Given the description of an element on the screen output the (x, y) to click on. 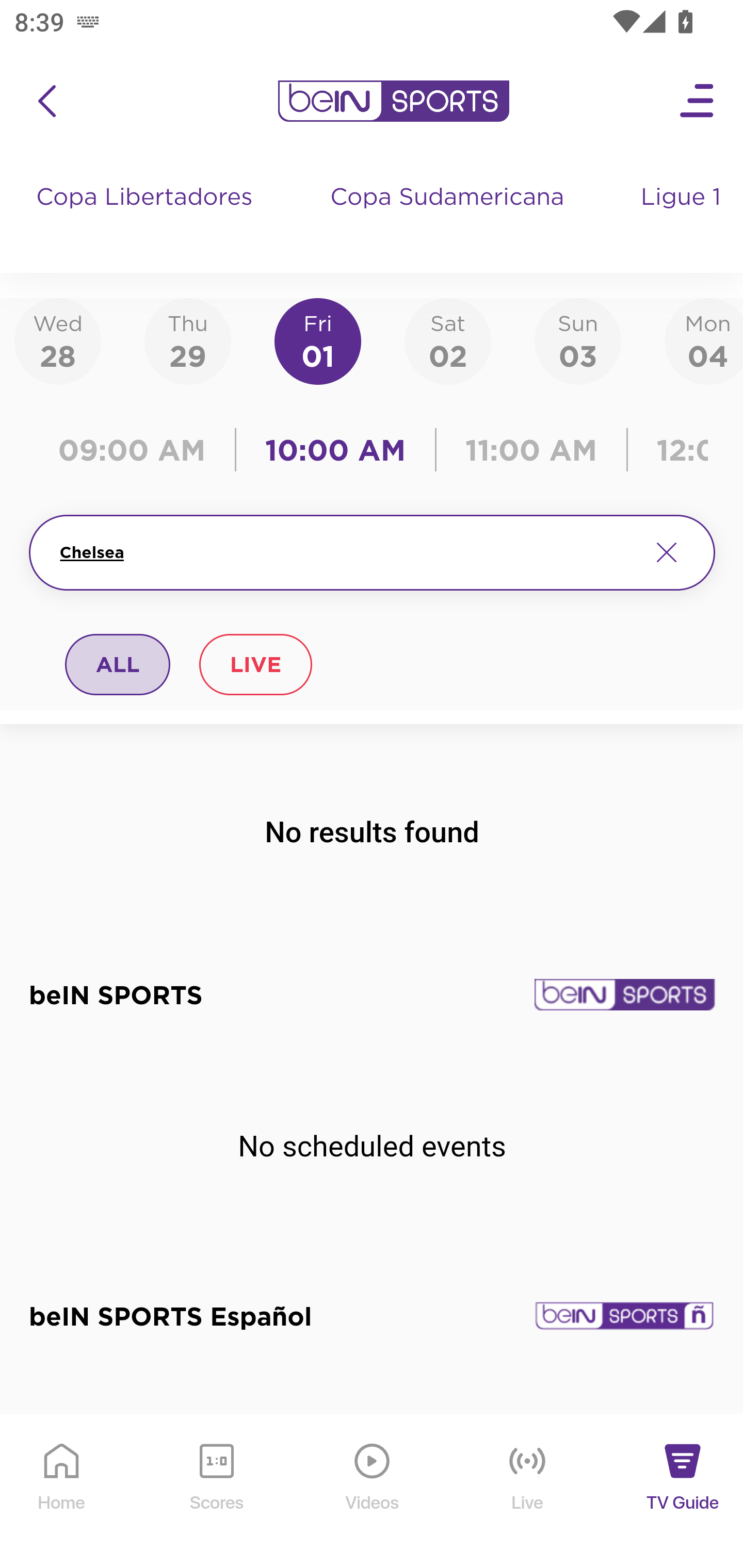
en-us?platform=mobile_android bein logo (392, 101)
icon back (46, 101)
Open Menu Icon (697, 101)
Copa Libertadores (146, 216)
Copa Sudamericana (448, 216)
Ligue 1 (682, 216)
Wed28 (58, 340)
Thu29 (187, 340)
Fri01 (318, 340)
Sat02 (447, 340)
Sun03 (578, 340)
Mon04 (703, 340)
09:00 AM (136, 449)
10:00 AM (335, 449)
11:00 AM (531, 449)
Chelsea (346, 552)
ALL (118, 663)
LIVE (255, 663)
Home Home Icon Home (61, 1491)
Scores Scores Icon Scores (216, 1491)
Videos Videos Icon Videos (372, 1491)
TV Guide TV Guide Icon TV Guide (682, 1491)
